Given the description of an element on the screen output the (x, y) to click on. 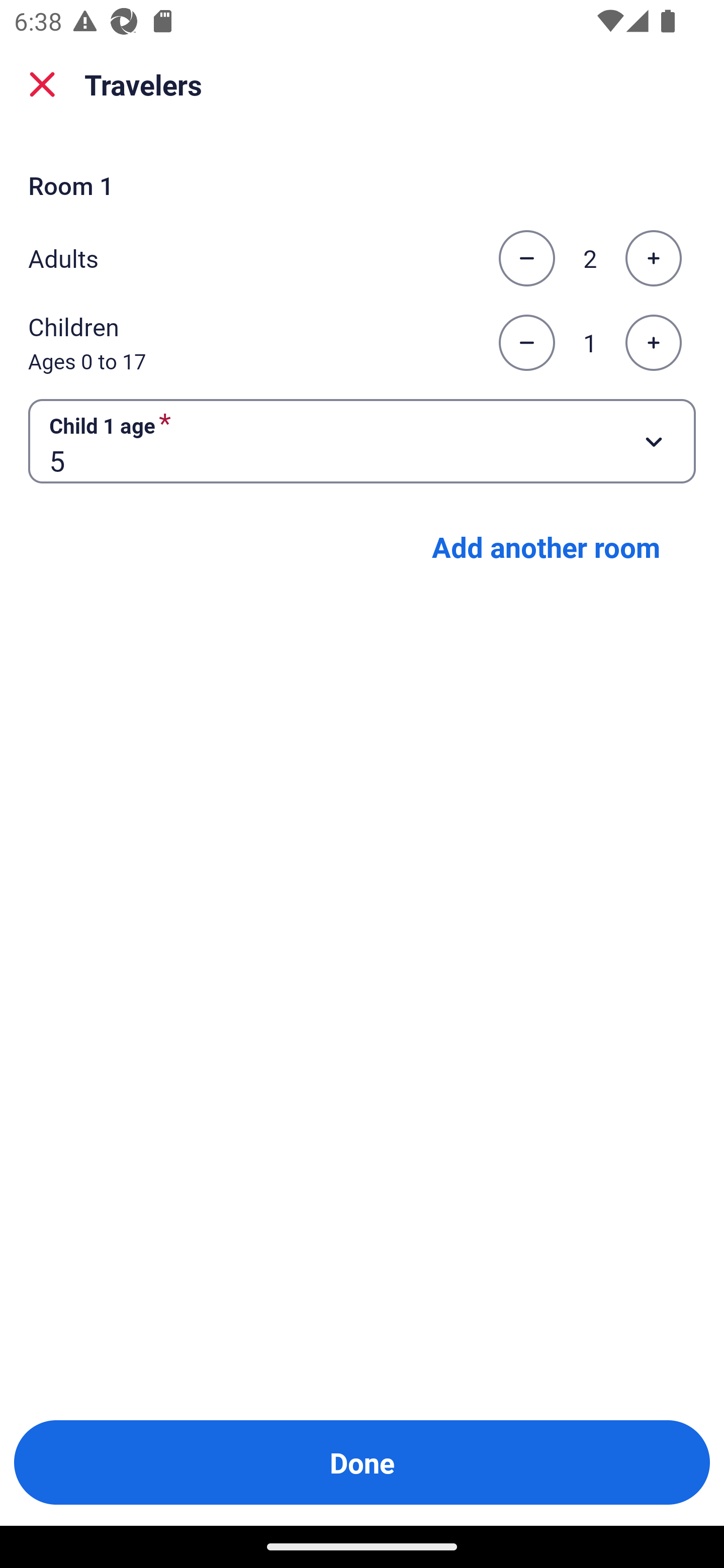
close (42, 84)
Decrease the number of adults (526, 258)
Increase the number of adults (653, 258)
Decrease the number of children (526, 343)
Increase the number of children (653, 343)
Child 1 age required Button 5 (361, 440)
Add another room (545, 546)
Done (361, 1462)
